Given the description of an element on the screen output the (x, y) to click on. 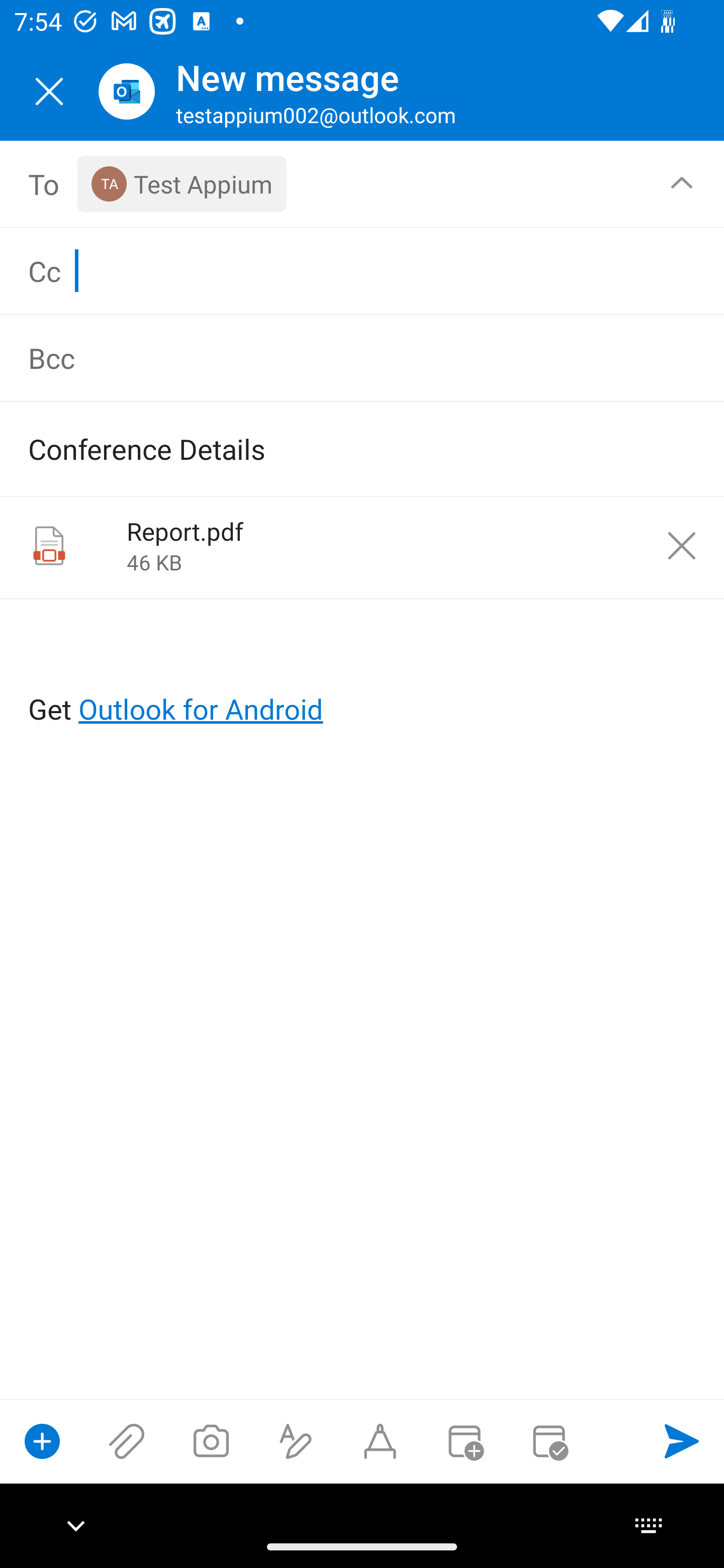
Close (49, 91)
Conference Details (333, 448)
Report.pdf 46 KB Remove attachment Report.pdf (362, 547)
Remove attachment Report.pdf (681, 545)


Get Outlook for Android (363, 676)
Show compose options (42, 1440)
Attach files (126, 1440)
Take a photo (210, 1440)
Show formatting options (295, 1440)
Start Ink compose (380, 1440)
Convert to event (464, 1440)
Send availability (548, 1440)
Send (681, 1440)
